Given the description of an element on the screen output the (x, y) to click on. 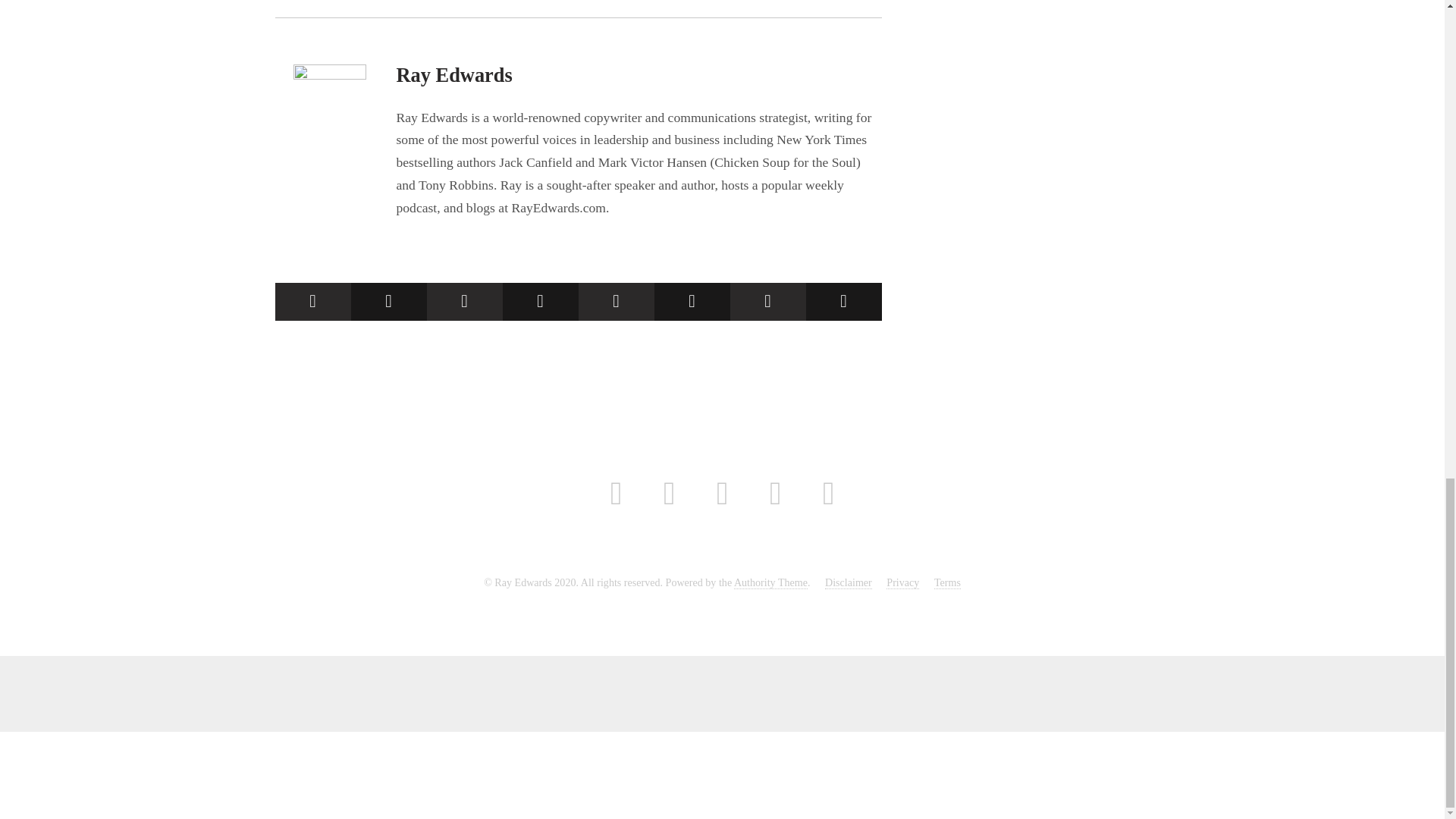
Ray Edwards (454, 74)
Posts by Ray Edwards (454, 74)
